Given the description of an element on the screen output the (x, y) to click on. 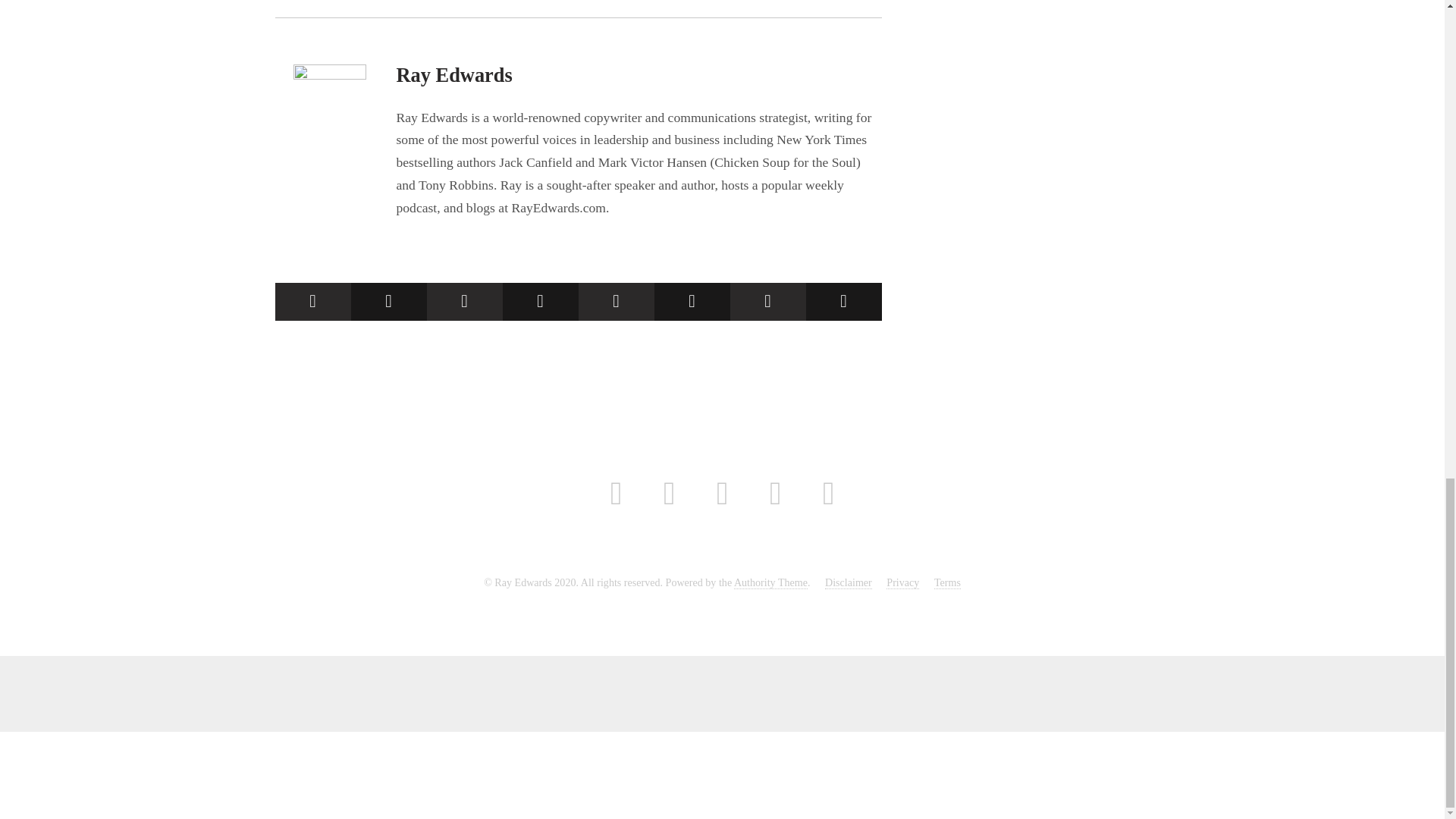
Ray Edwards (454, 74)
Posts by Ray Edwards (454, 74)
